Given the description of an element on the screen output the (x, y) to click on. 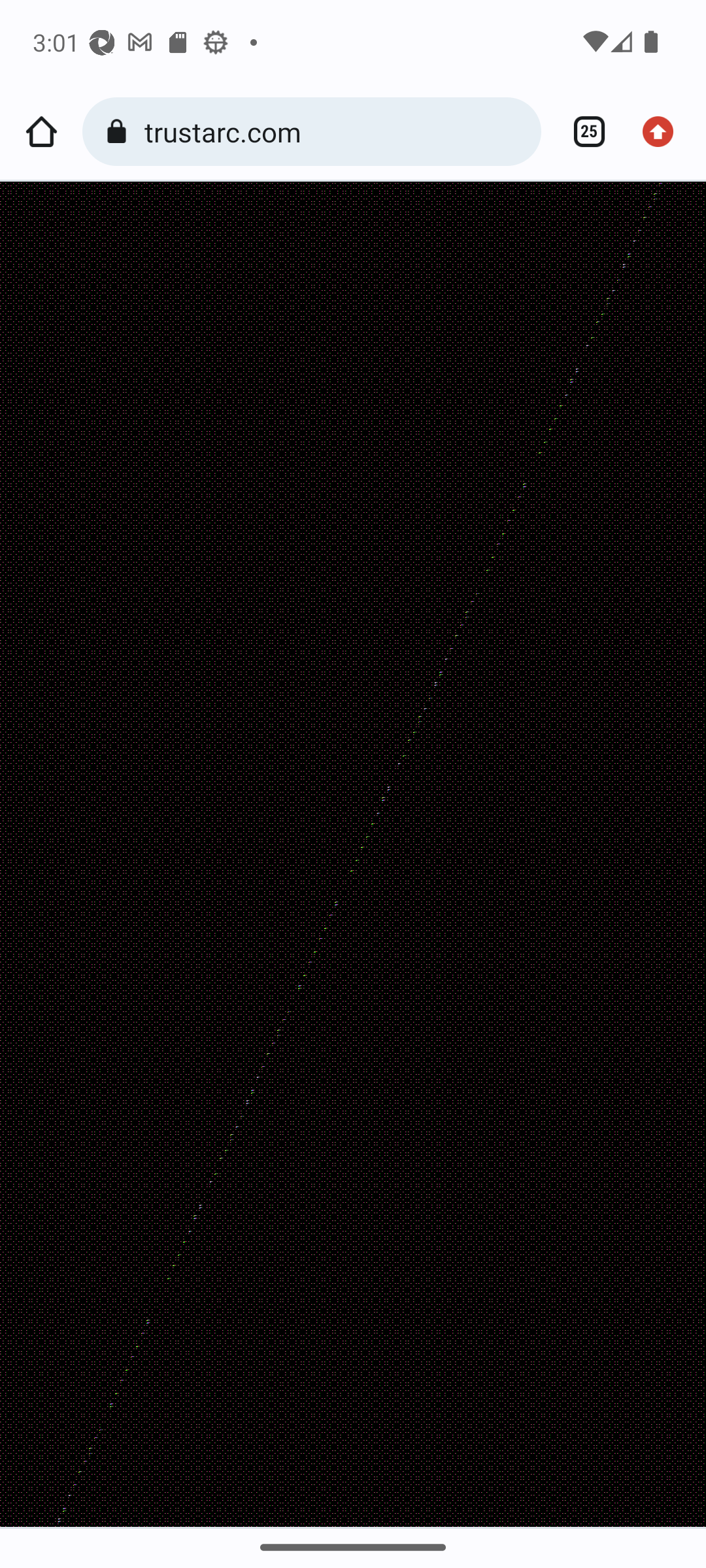
Home (41, 131)
Connection is secure (120, 131)
Switch or close tabs (582, 131)
Update available. More options (664, 131)
trustarc.com (335, 131)
